Given the description of an element on the screen output the (x, y) to click on. 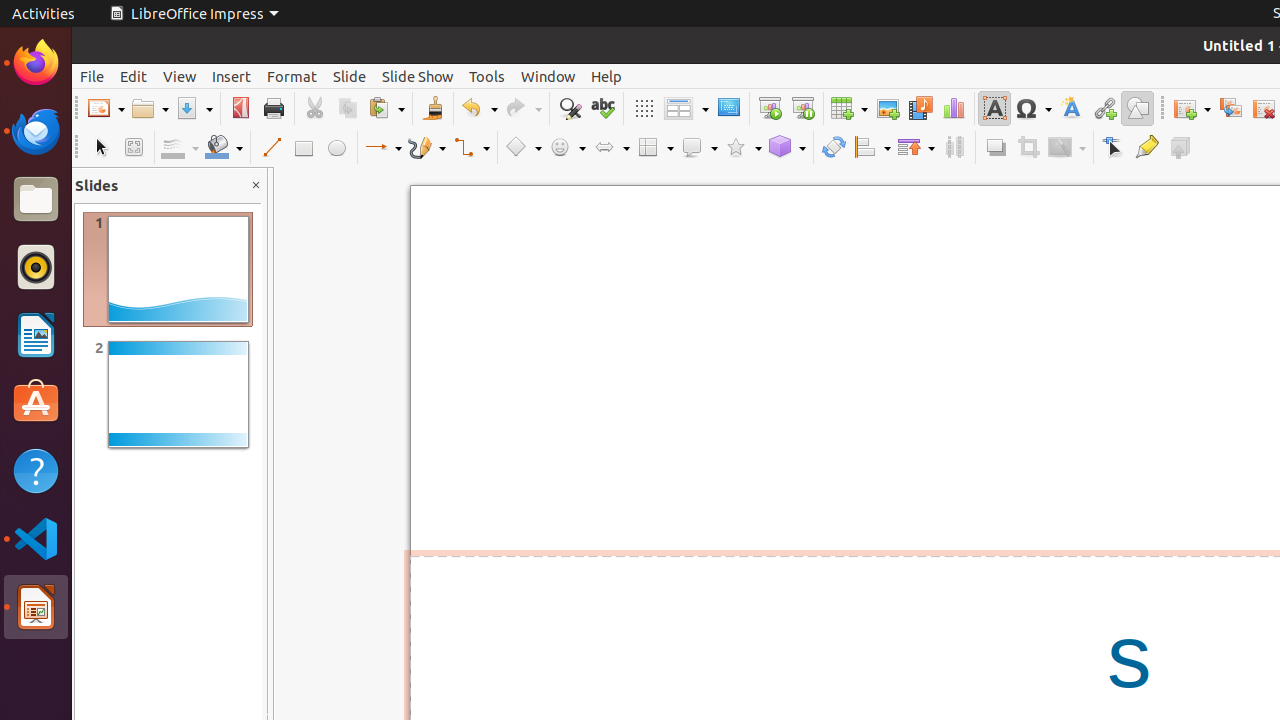
Close Pane Element type: push-button (255, 185)
Image Element type: push-button (887, 108)
Shadow Element type: toggle-button (995, 147)
Select Element type: push-button (100, 147)
Print Element type: push-button (273, 108)
